Given the description of an element on the screen output the (x, y) to click on. 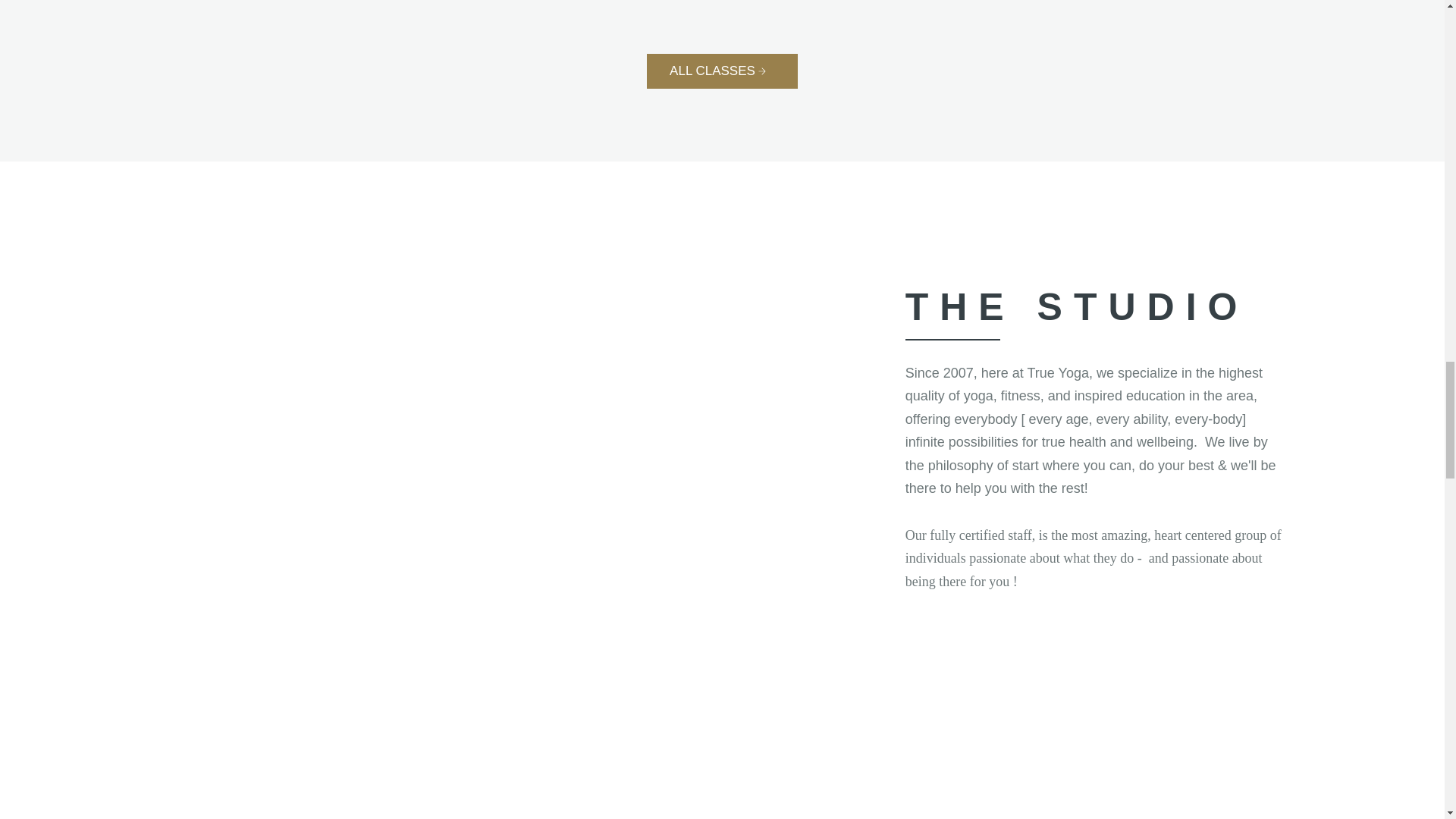
ALL CLASSES (721, 71)
